Given the description of an element on the screen output the (x, y) to click on. 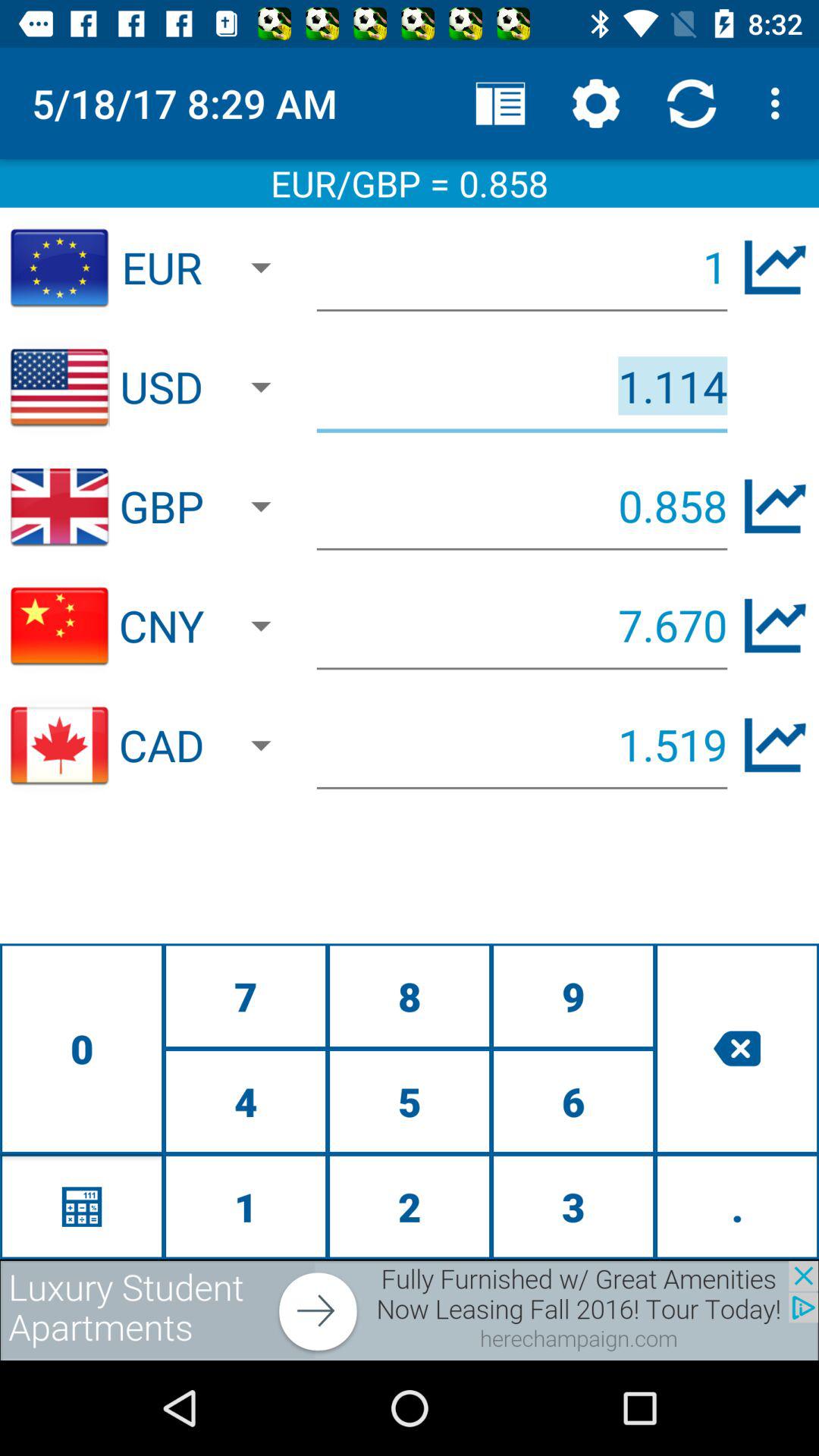
delete number (737, 1048)
